Given the description of an element on the screen output the (x, y) to click on. 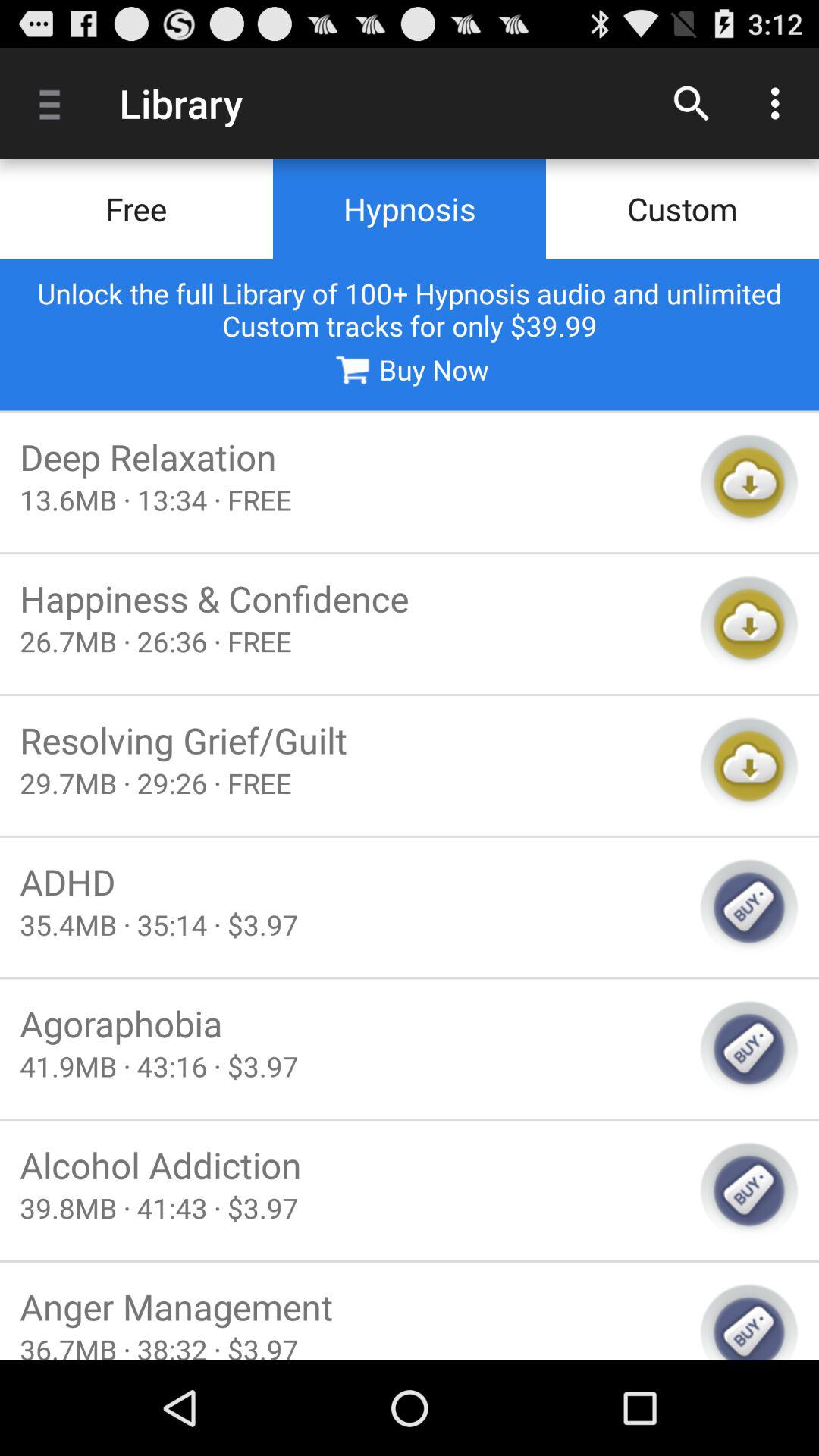
download deep relaxation (749, 482)
